Given the description of an element on the screen output the (x, y) to click on. 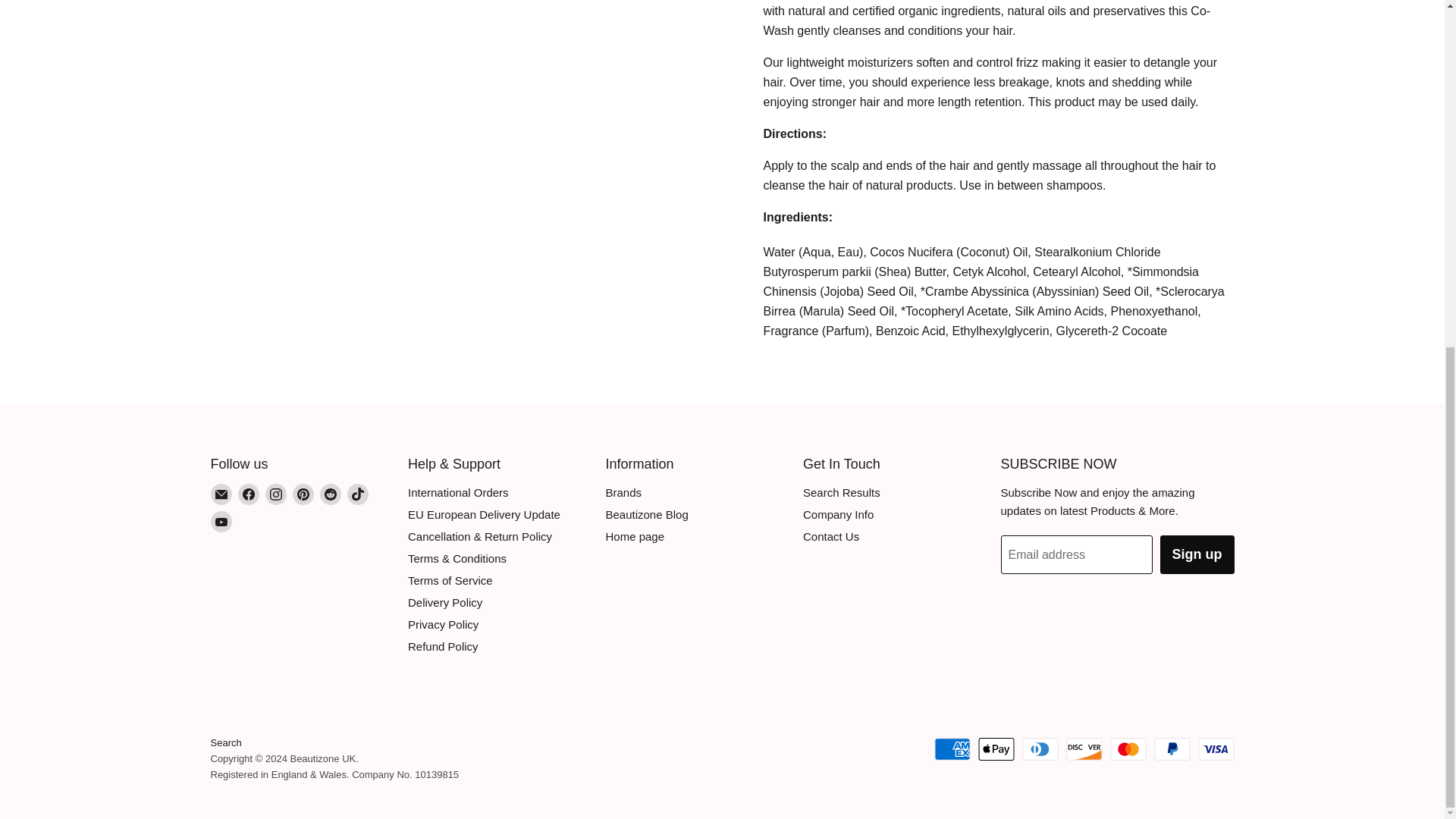
Instagram (275, 494)
Email (221, 494)
Reddit (330, 494)
Facebook (248, 494)
Pinterest (303, 494)
